Given the description of an element on the screen output the (x, y) to click on. 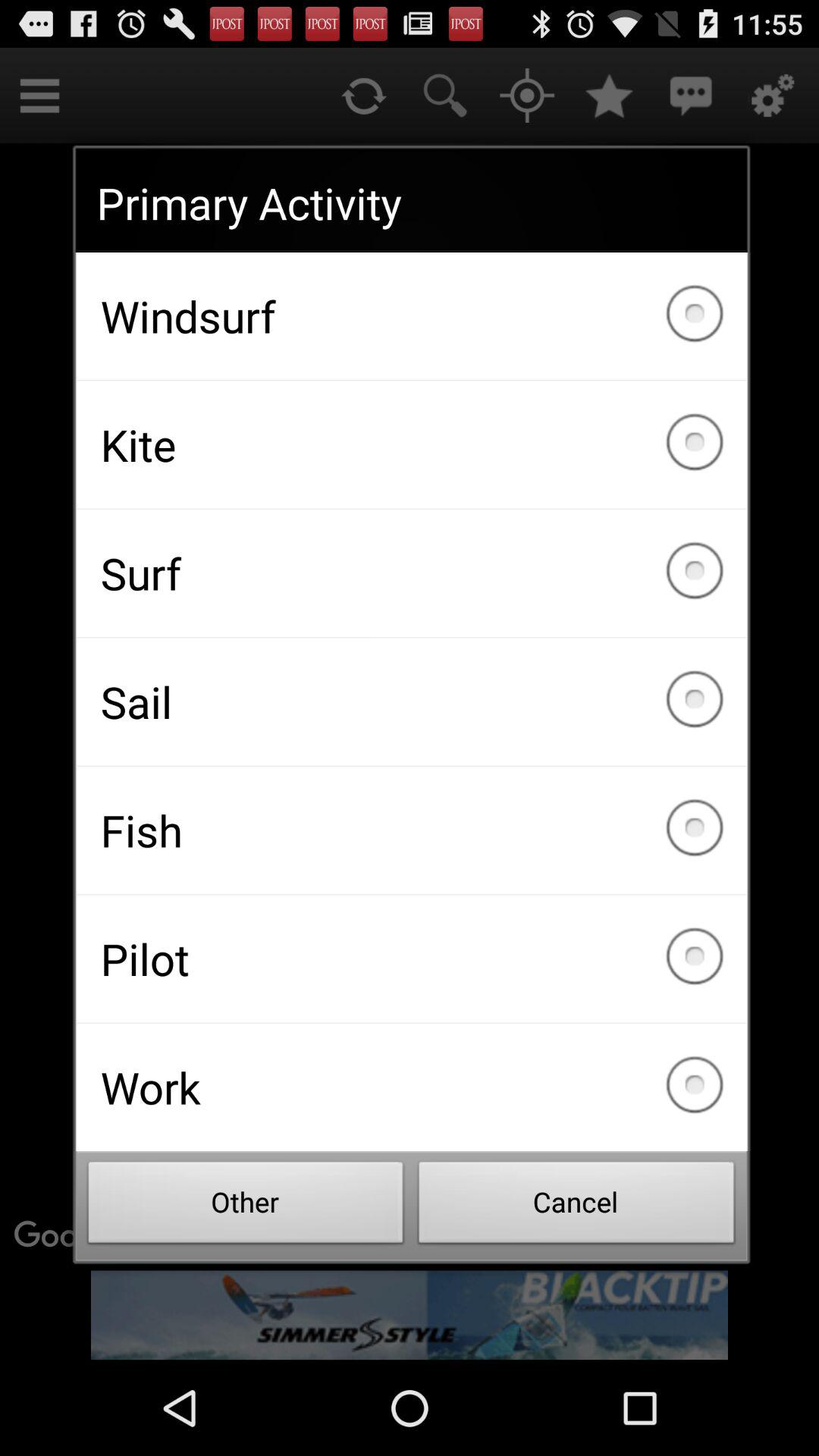
open item below the work icon (576, 1206)
